Given the description of an element on the screen output the (x, y) to click on. 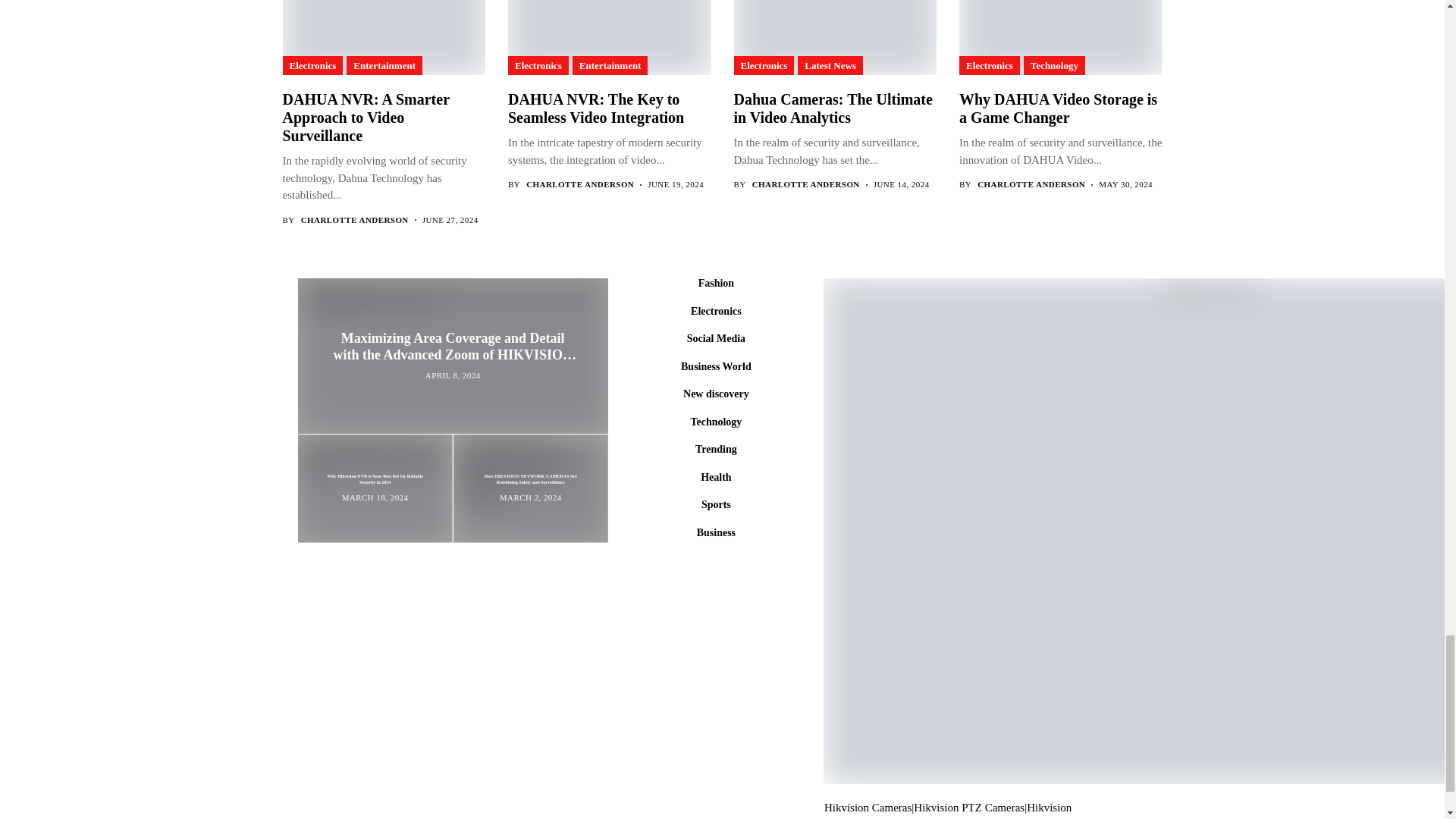
Posts by Charlotte Anderson (1030, 184)
Posts by Charlotte Anderson (806, 184)
Posts by Charlotte Anderson (355, 220)
Posts by Charlotte Anderson (579, 184)
Why DAHUA Video Storage is a Game Changer (1059, 37)
DAHUA NVR: A Smarter Approach to Video Surveillance (382, 37)
Dahua Cameras: The Ultimate in Video Analytics (834, 37)
DAHUA NVR: The Key to Seamless Video Integration (608, 37)
